Given the description of an element on the screen output the (x, y) to click on. 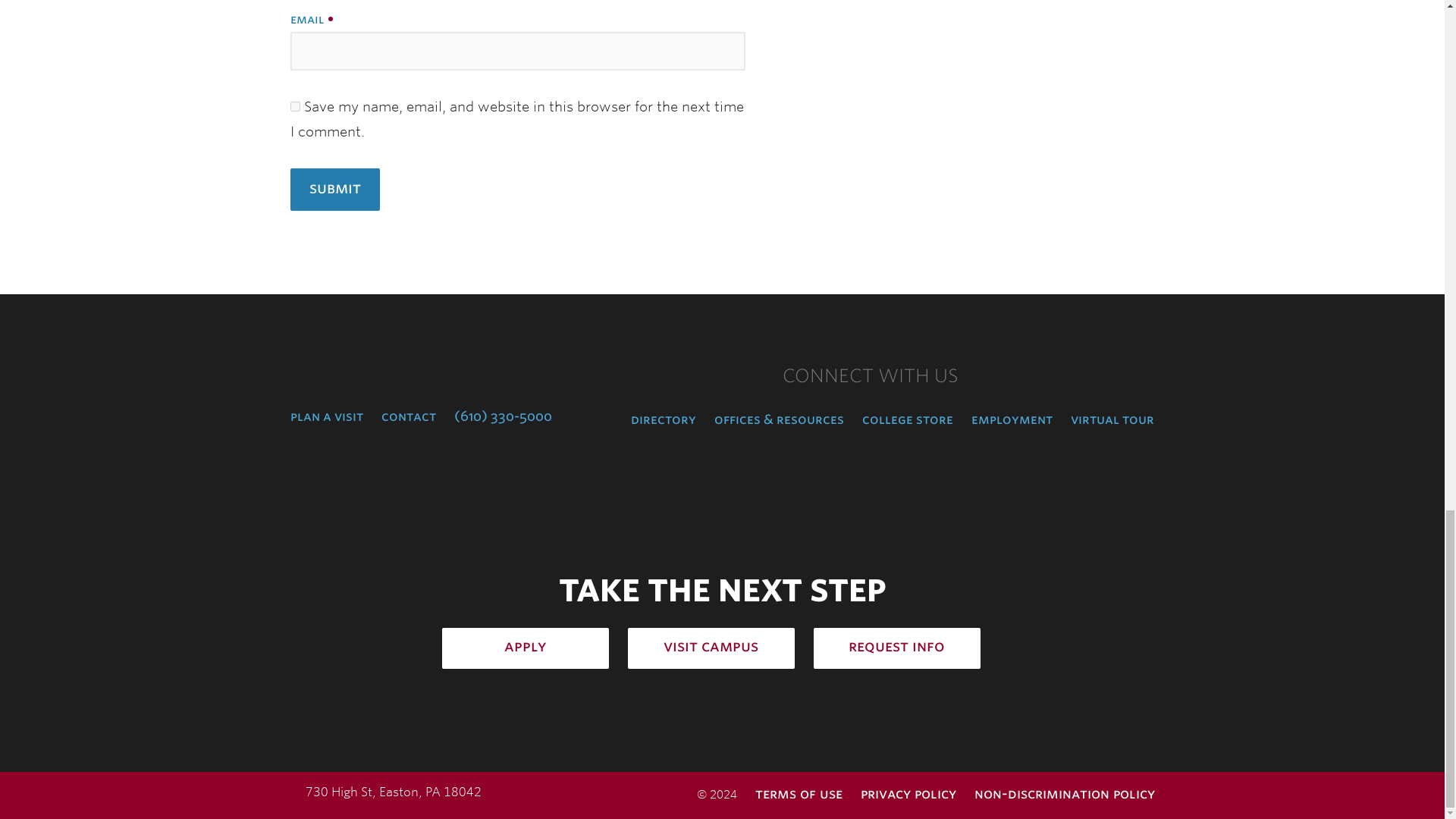
submit (333, 189)
